Given the description of an element on the screen output the (x, y) to click on. 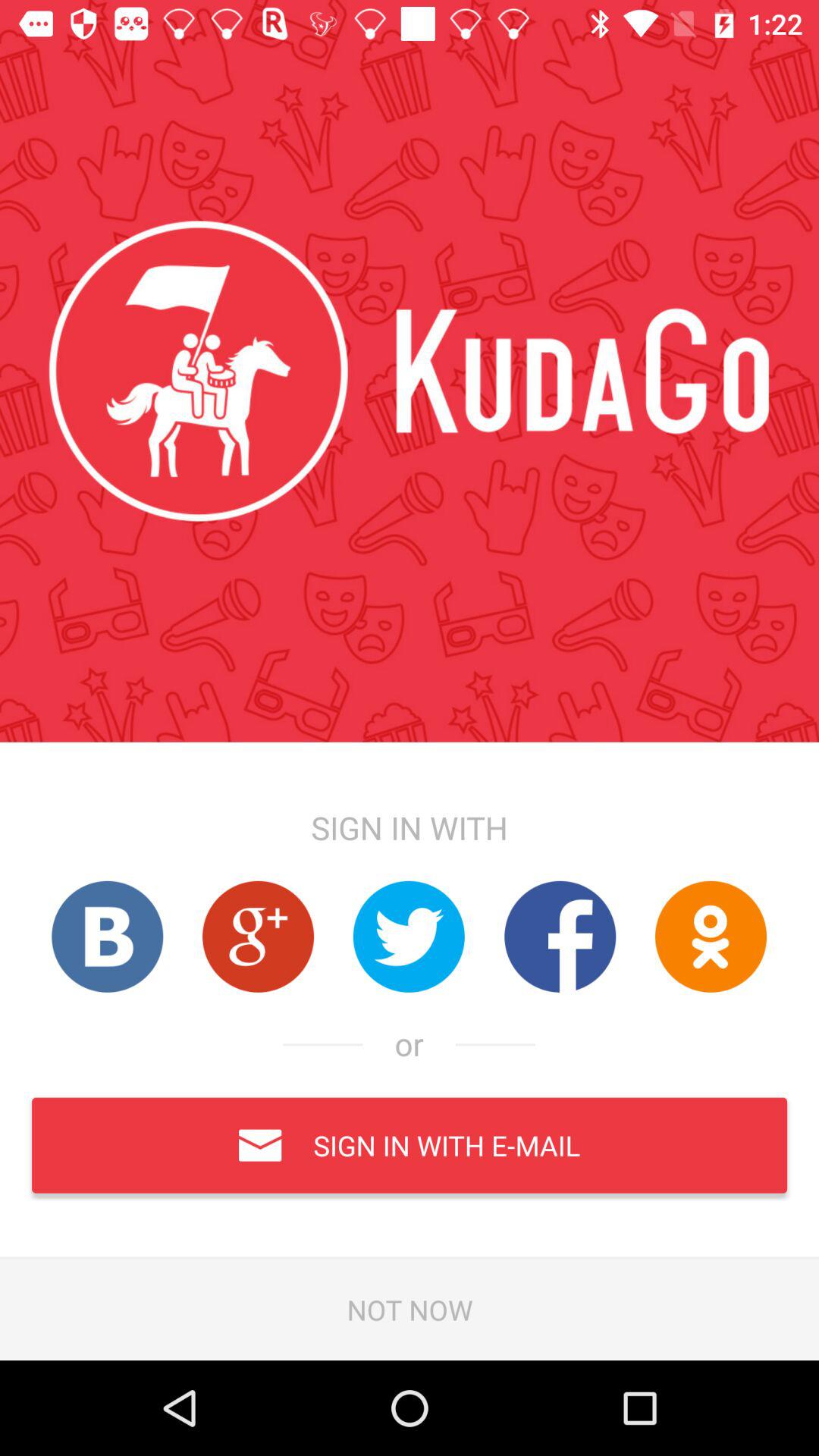
twitter (408, 936)
